Given the description of an element on the screen output the (x, y) to click on. 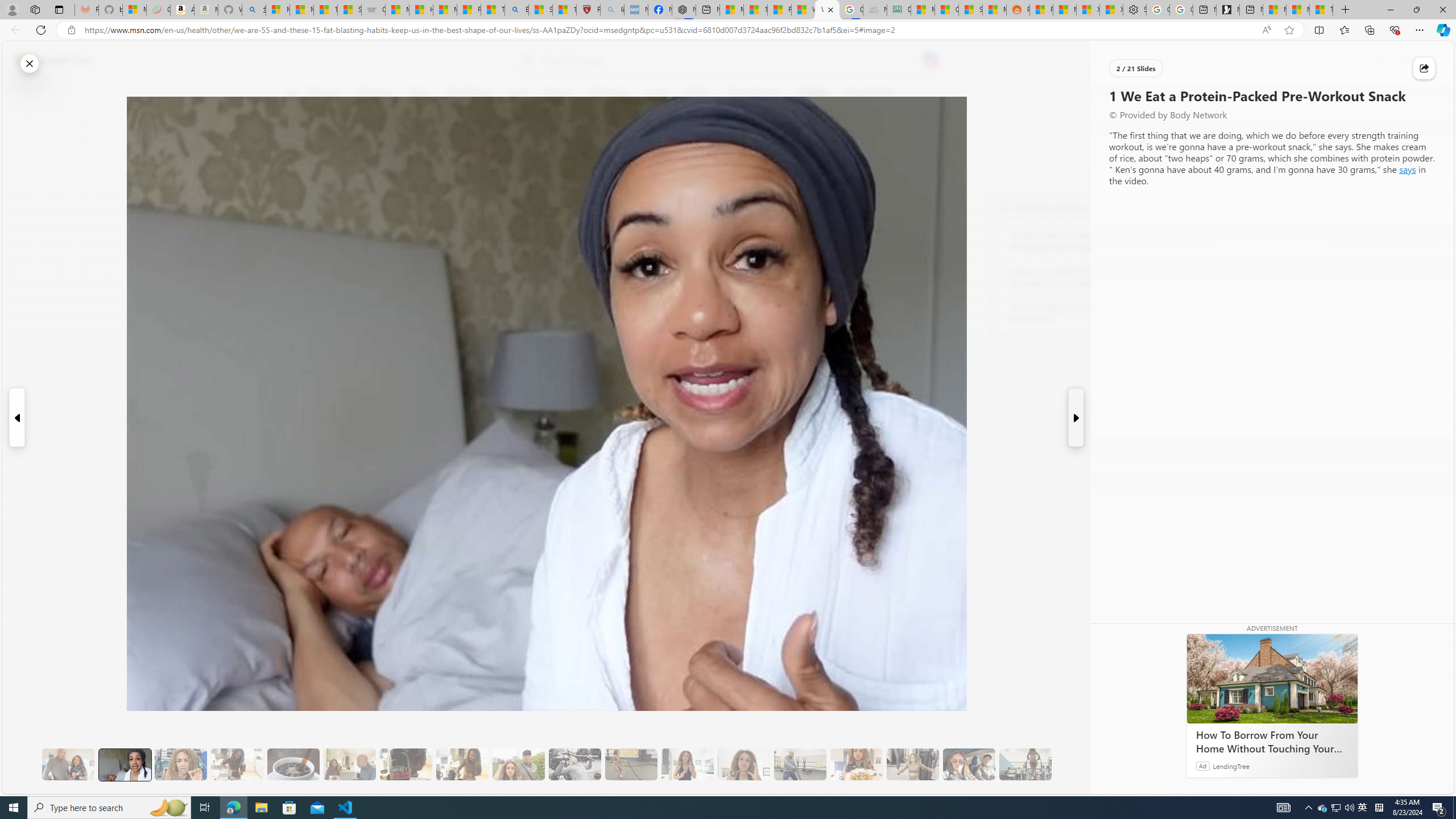
Body Network (1004, 207)
3 They Drink Lemon Tea (237, 764)
14 Common Myths Debunked By Scientific Facts (754, 9)
Crime (657, 92)
Microsoft rewards (1382, 60)
2 They Use Protein Powder for Flavor (180, 764)
Food & Drink (865, 92)
Share this story (1423, 67)
